Given the description of an element on the screen output the (x, y) to click on. 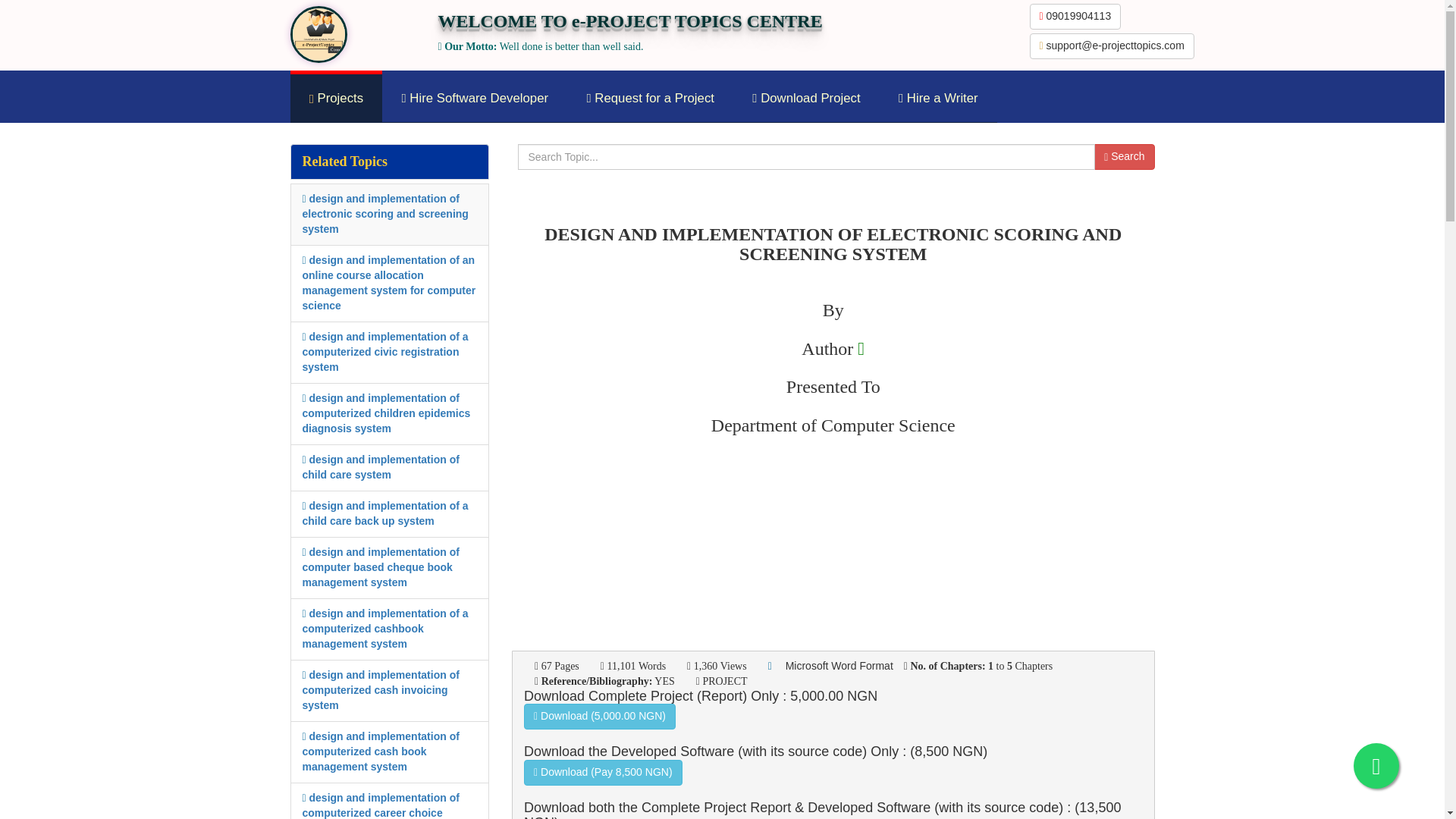
Download Project (806, 98)
Projects (335, 98)
Request for a Project (650, 98)
Hire a Writer (938, 98)
design and implementation of child care system (379, 466)
design and implementation of a child care back up system (384, 513)
